Given the description of an element on the screen output the (x, y) to click on. 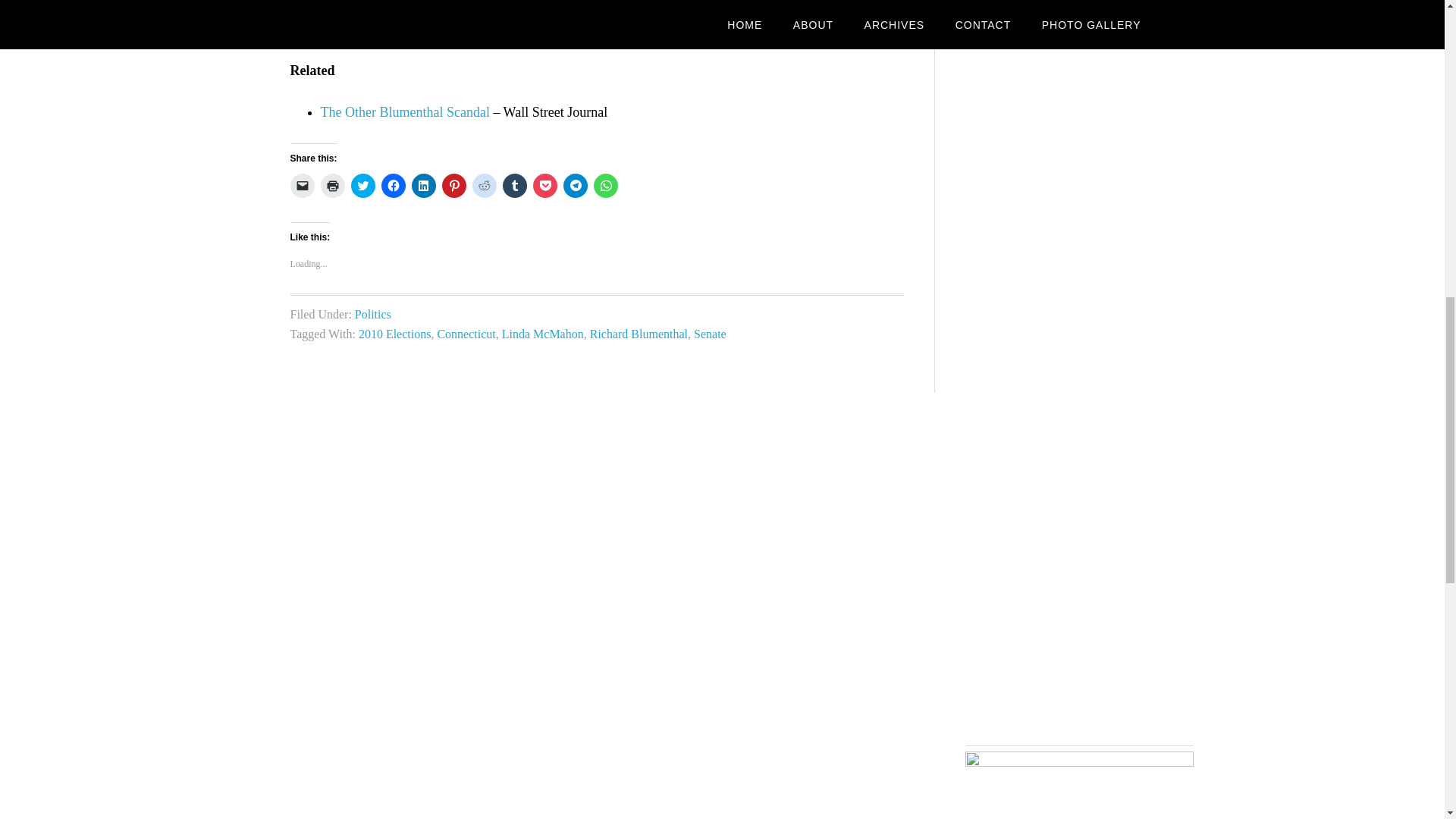
Click to share on Facebook (392, 185)
Click to share on Reddit (483, 185)
Click to share on Twitter (362, 185)
Click to share on WhatsApp (604, 185)
2010 Elections (394, 333)
Click to share on Telegram (574, 185)
Linda McMahon (542, 333)
Connecticut (465, 333)
Click to share on LinkedIn (422, 185)
Politics (373, 314)
Click to email a link to a friend (301, 185)
Click to share on Tumblr (513, 185)
The Other Blumenthal Scandal (404, 111)
Richard Blumenthal (638, 333)
NYT: Blumenthal Lied About Vietnam Service (448, 28)
